Given the description of an element on the screen output the (x, y) to click on. 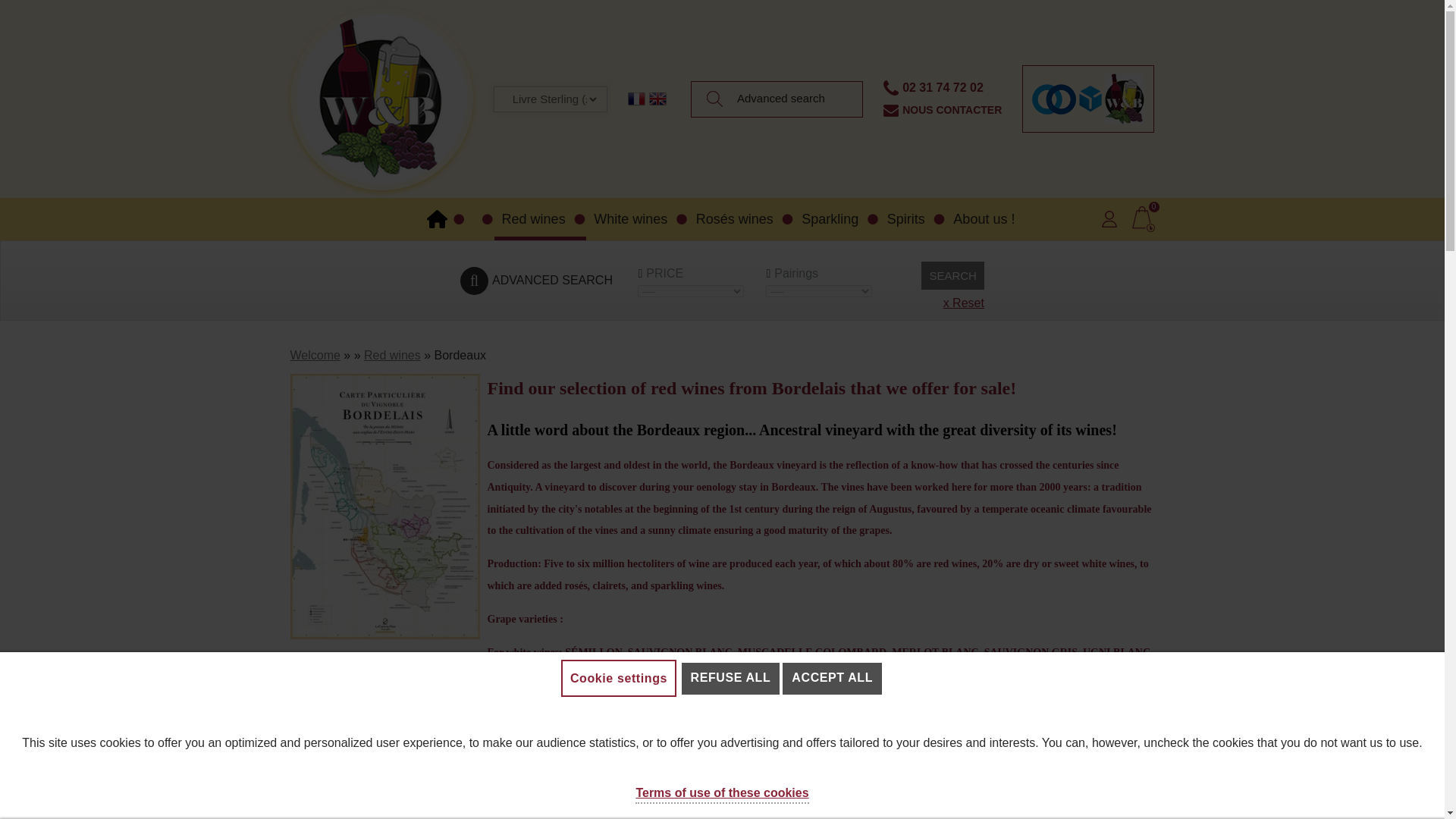
stef (1053, 98)
NOUS CONTACTER (951, 110)
Welcome (443, 219)
02 31 74 72 02 (943, 87)
Sparkling (836, 219)
Red wines (540, 219)
 GO  (714, 98)
White wines (637, 219)
